Given the description of an element on the screen output the (x, y) to click on. 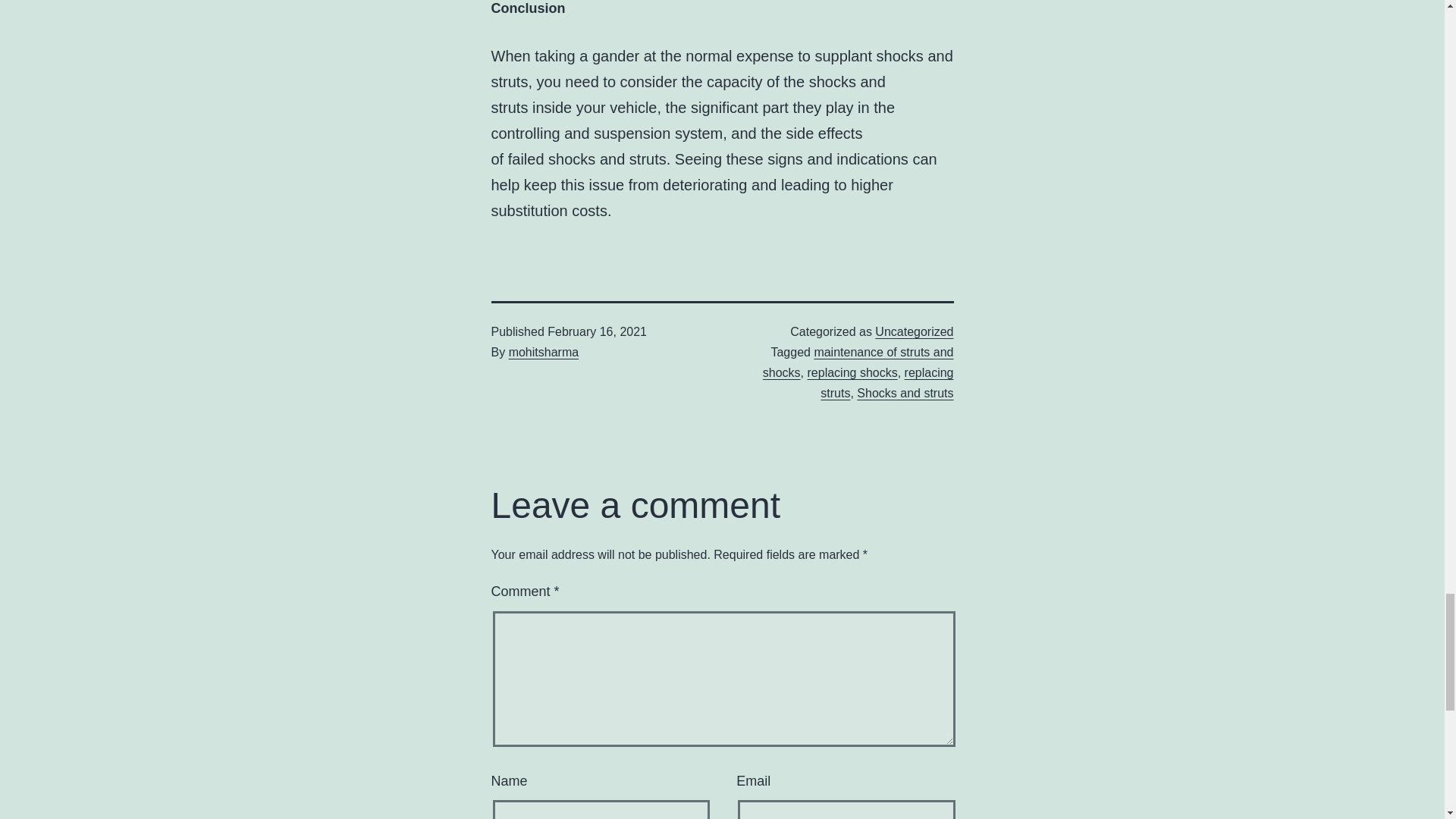
mohitsharma (543, 351)
Shocks and struts (905, 392)
replacing shocks (851, 372)
Uncategorized (914, 331)
maintenance of struts and shocks (857, 362)
replacing struts (887, 382)
